Given the description of an element on the screen output the (x, y) to click on. 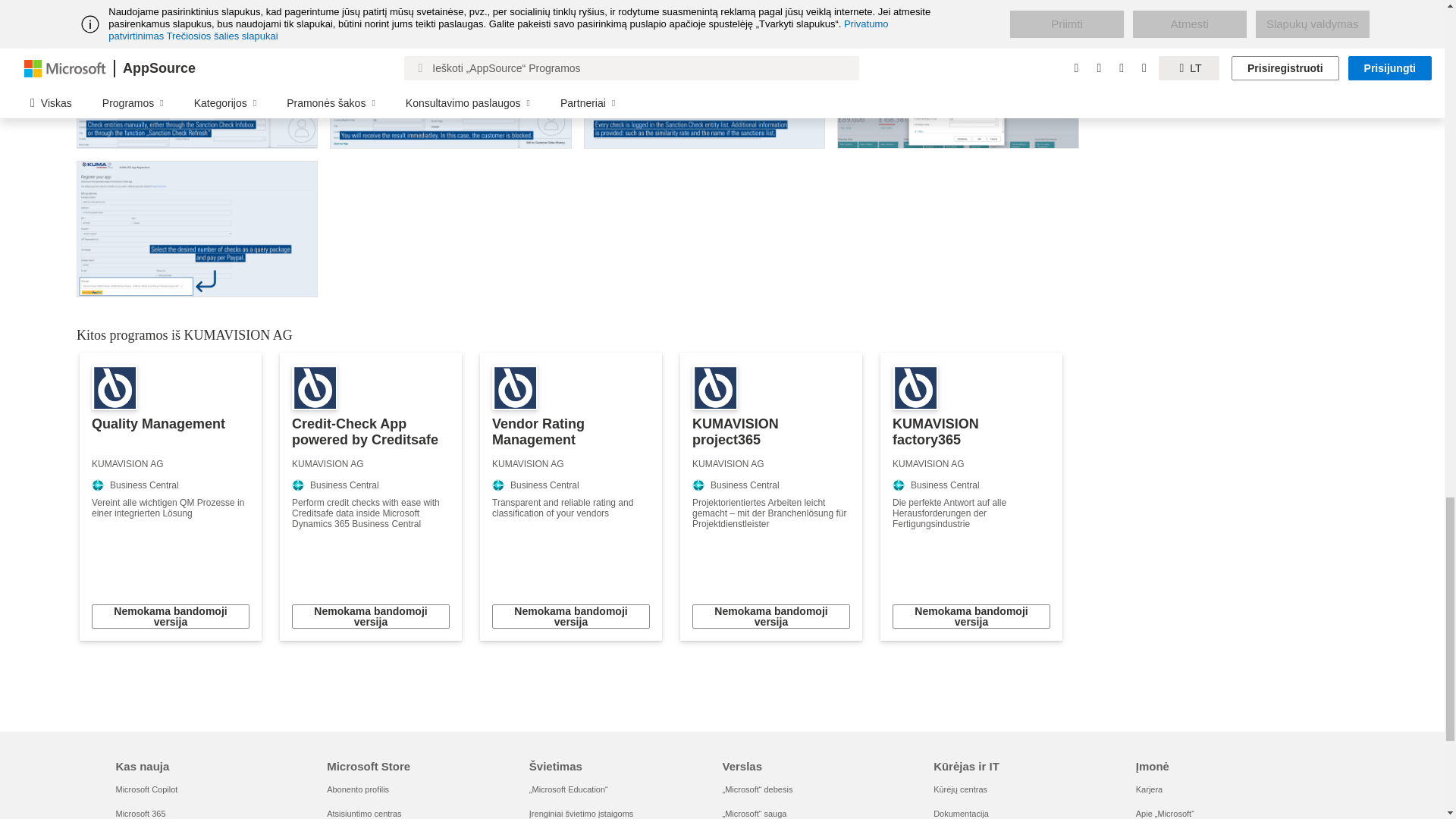
Nemokama bandomoji versija (370, 616)
Nemokama bandomoji versija (169, 616)
Nemokama bandomoji versija (570, 616)
